Given the description of an element on the screen output the (x, y) to click on. 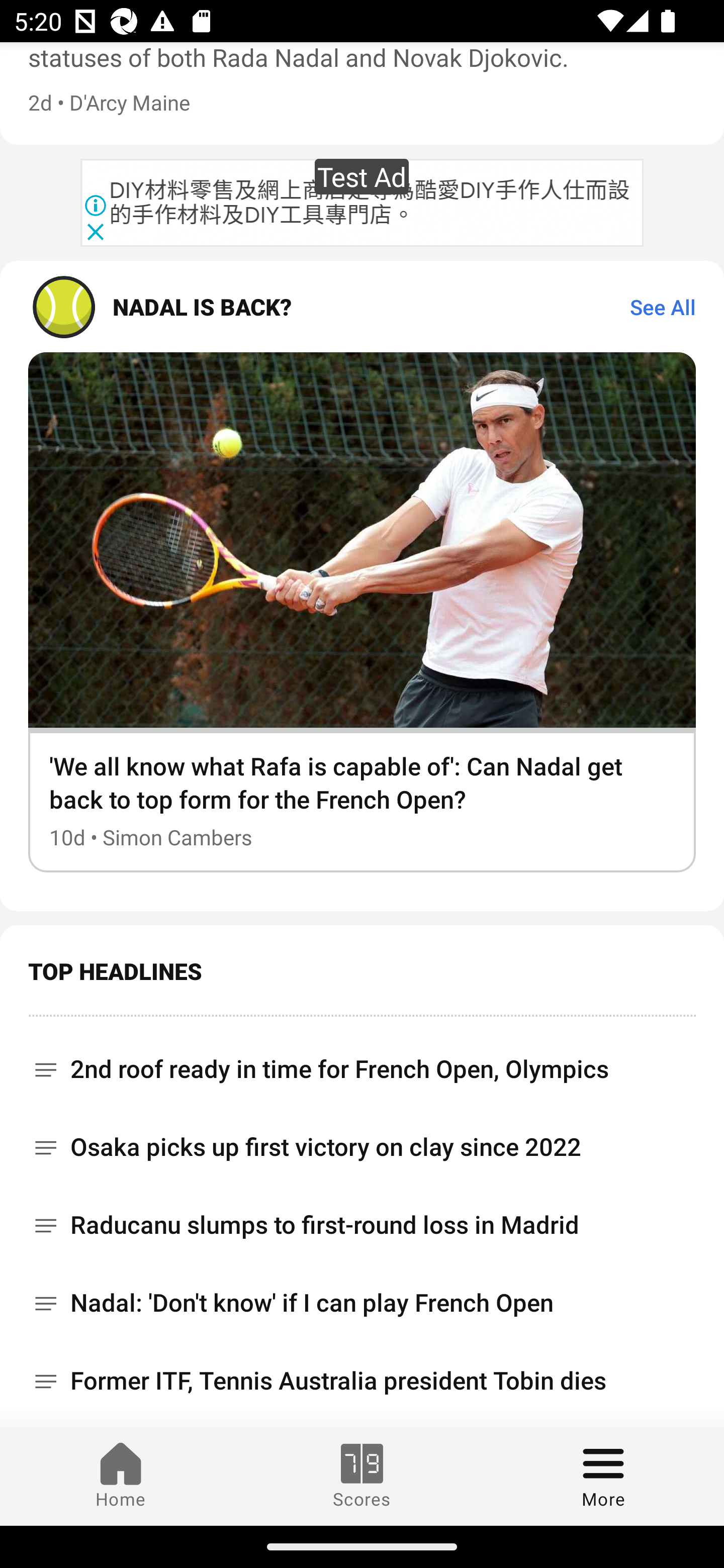
NADAL IS BACK? See All (362, 306)
 2nd roof ready in time for French Open, Olympics (362, 1062)
 Osaka picks up first victory on clay since 2022 (362, 1147)
 Raducanu slumps to first-round loss in Madrid (362, 1224)
 Nadal: 'Don't know' if I can play French Open (362, 1302)
Home (120, 1475)
Scores (361, 1475)
